Given the description of an element on the screen output the (x, y) to click on. 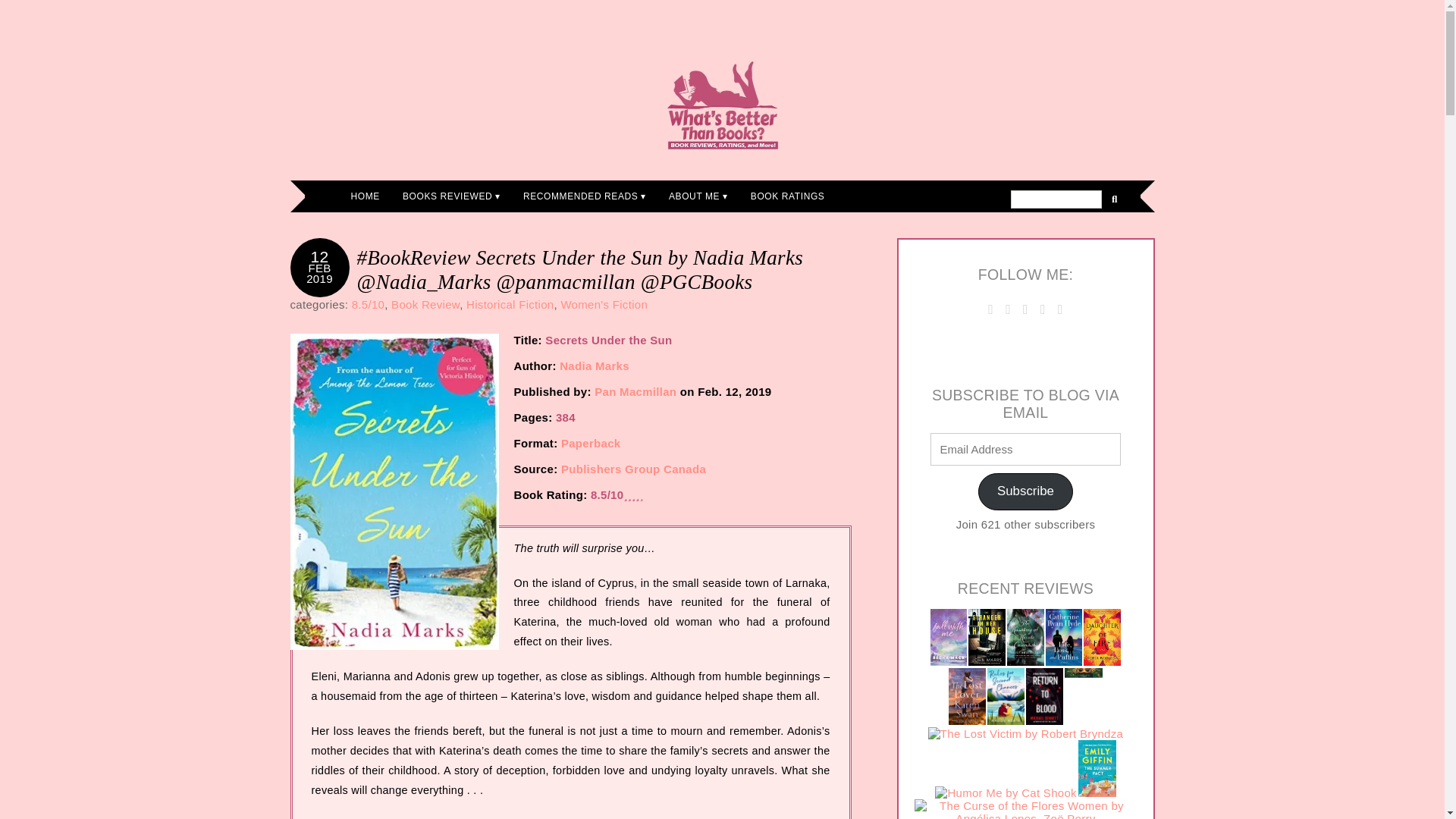
Search (1056, 199)
Historical Fiction (509, 304)
Nadia Marks (593, 365)
12 (320, 255)
HOME (365, 196)
Women's Fiction (603, 304)
Publishers Group Canada (633, 468)
Paperback (590, 442)
ABOUT ME (698, 196)
BOOK RATINGS (787, 196)
What's Better Than Books? (722, 104)
RECOMMENDED READS (585, 196)
Pan Macmillan (635, 391)
Book Review (425, 304)
BOOKS REVIEWED (451, 196)
